Given the description of an element on the screen output the (x, y) to click on. 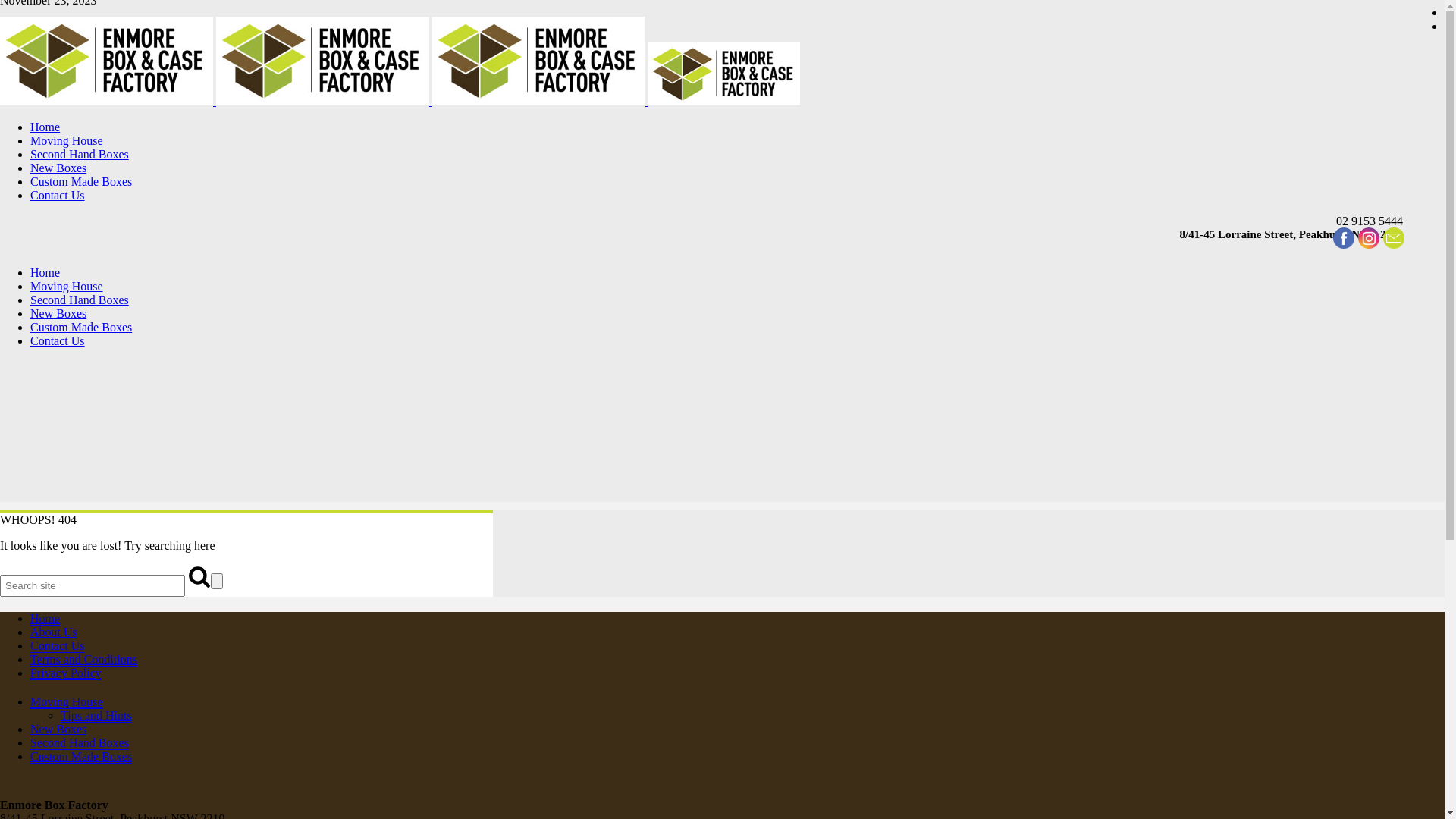
Contact Us Element type: text (57, 194)
About Us Element type: text (53, 632)
Second Hand Boxes Element type: text (79, 153)
Custom Made Boxes Element type: text (80, 326)
Home Element type: text (44, 126)
Moving House Element type: text (66, 140)
Moving House Element type: text (66, 702)
Tips and Hints Element type: text (95, 715)
New Boxes Element type: text (58, 729)
Second Hand Boxes Element type: text (79, 742)
New Boxes Element type: text (58, 167)
Custom Made Boxes Element type: text (80, 181)
Contact Us Element type: text (57, 340)
Terms and Conditions Element type: text (83, 659)
Home Element type: text (44, 618)
Second Hand Boxes Element type: text (79, 299)
Custom Made Boxes Element type: text (80, 756)
Contact Us Element type: text (57, 645)
Moving House Element type: text (66, 285)
Enmore Box Element type: hover (400, 100)
Privacy Policy Element type: text (65, 673)
New Boxes Element type: text (58, 313)
Home Element type: text (44, 272)
